Given the description of an element on the screen output the (x, y) to click on. 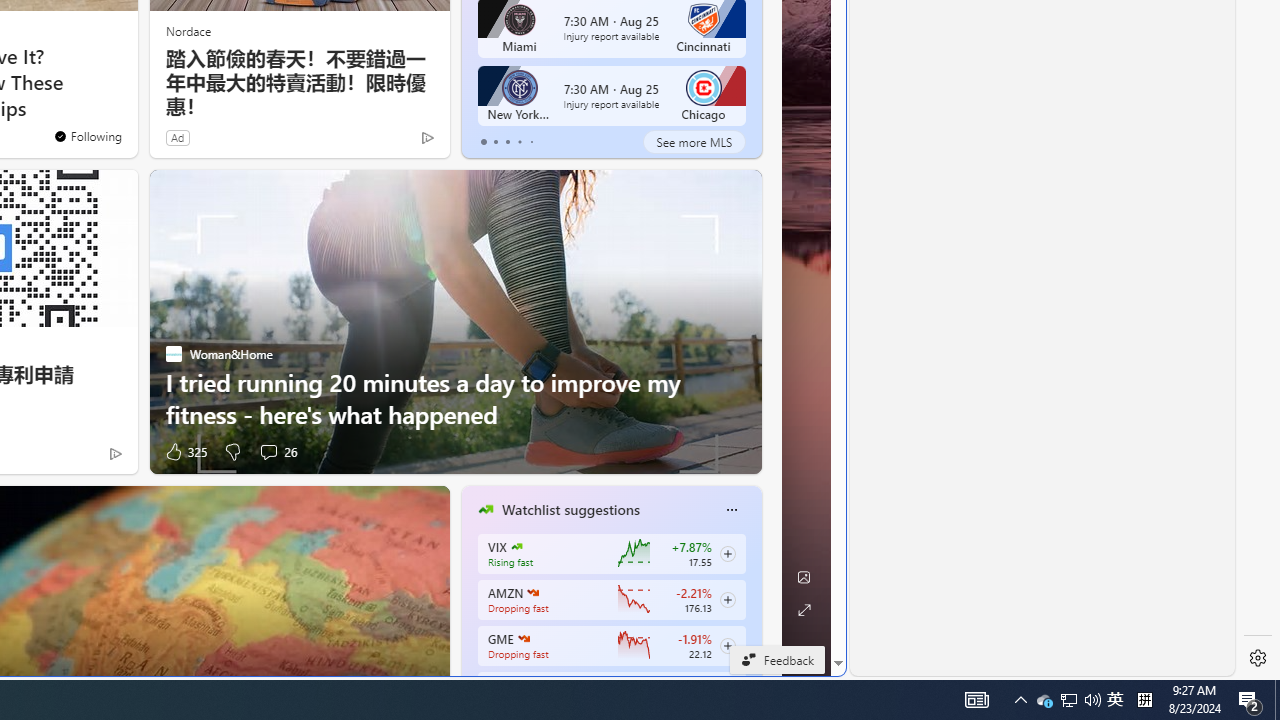
tab-0 (483, 142)
Class: icon-img (731, 509)
CBOE Market Volatility Index (516, 546)
View comments 26 Comment (276, 451)
See more MLS (694, 142)
GAMESTOP CORP. (523, 638)
tab-1 (494, 142)
Expand background (803, 610)
